Given the description of an element on the screen output the (x, y) to click on. 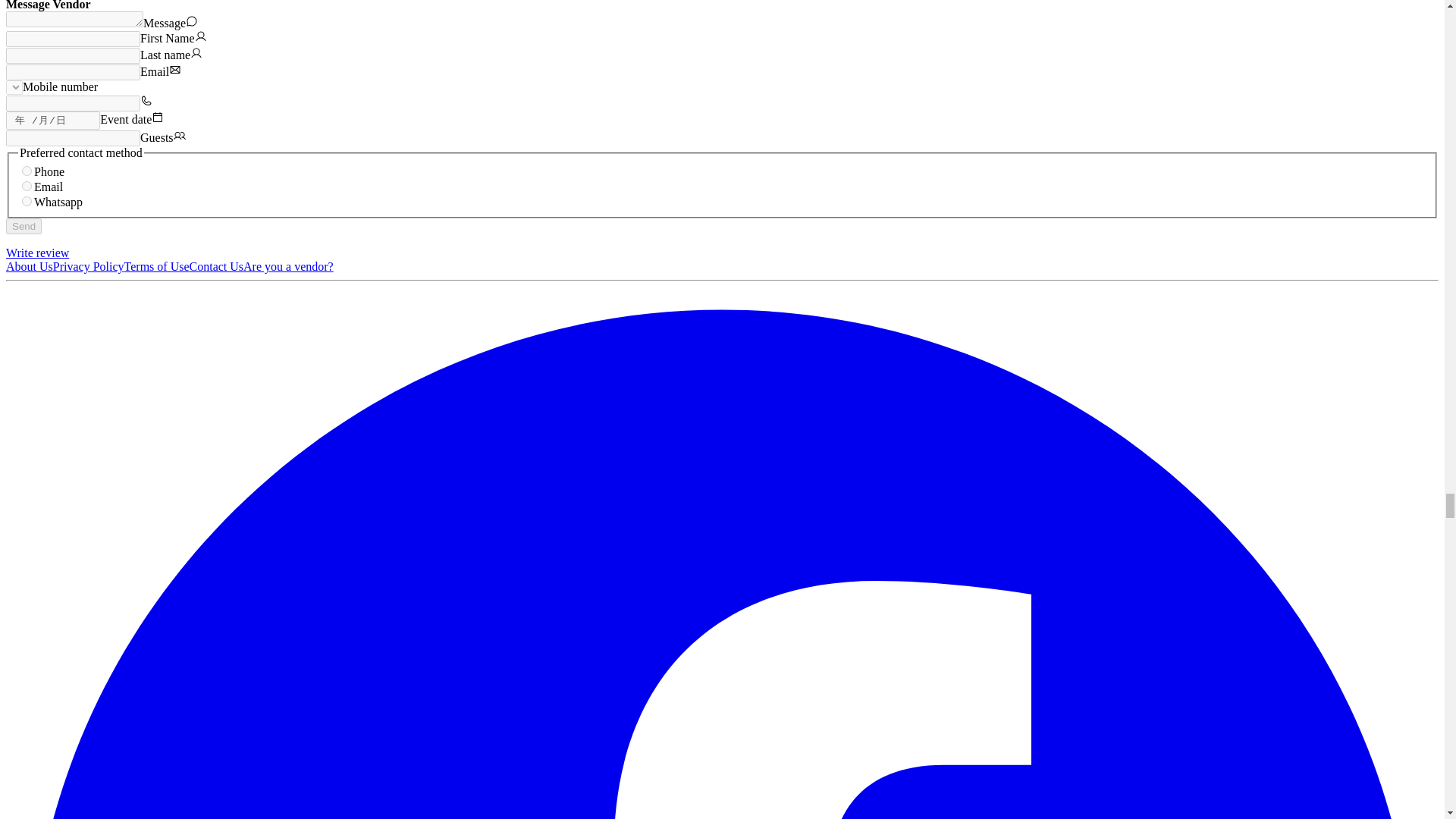
Whatsapp (26, 201)
Email (26, 185)
You can only use numbers for phone number. (72, 103)
Phone (26, 171)
